Given the description of an element on the screen output the (x, y) to click on. 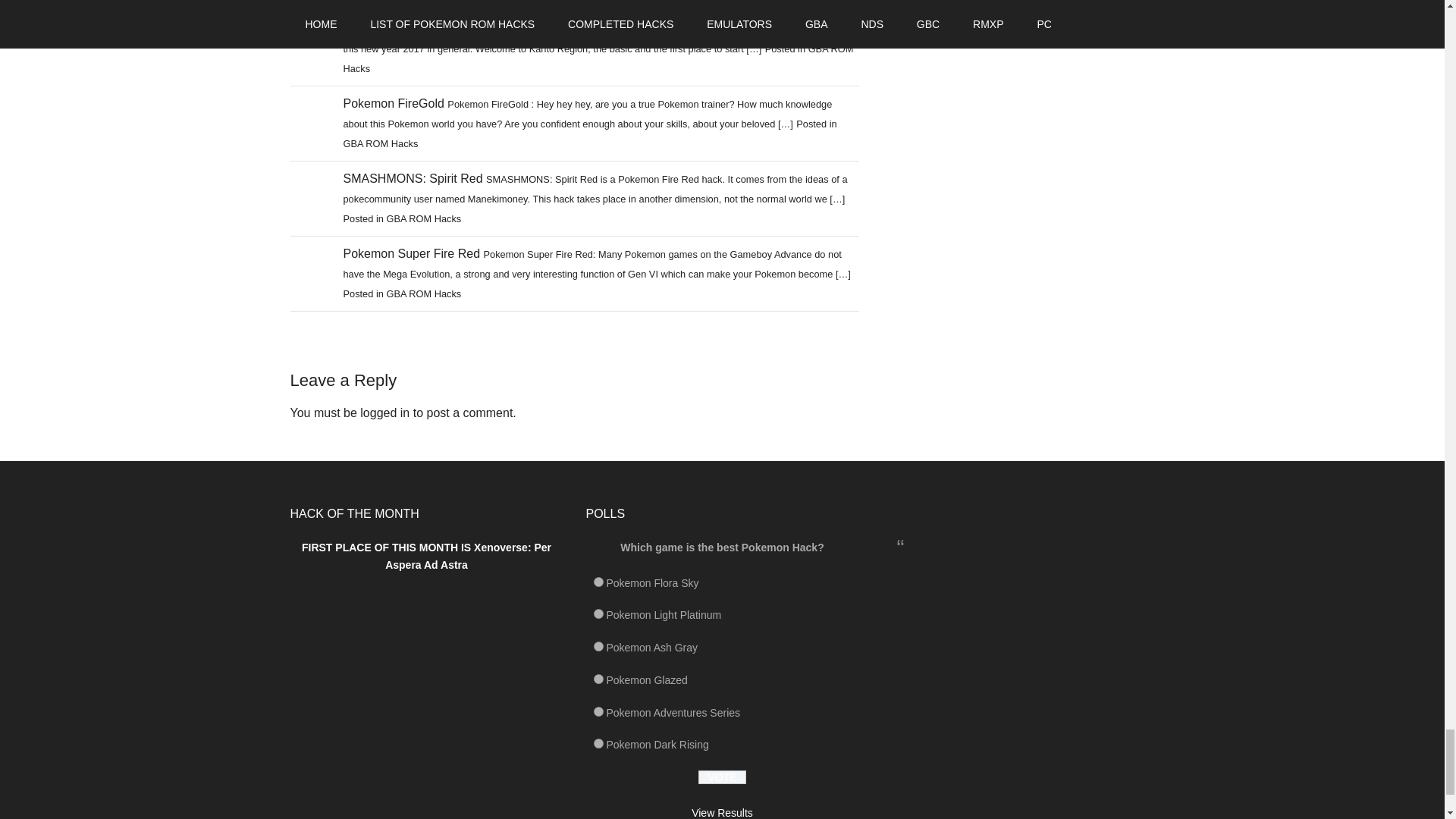
8 (597, 646)
7 (597, 614)
6 (597, 582)
   Vote    (721, 776)
9 (597, 678)
12 (597, 743)
11 (597, 711)
